Given the description of an element on the screen output the (x, y) to click on. 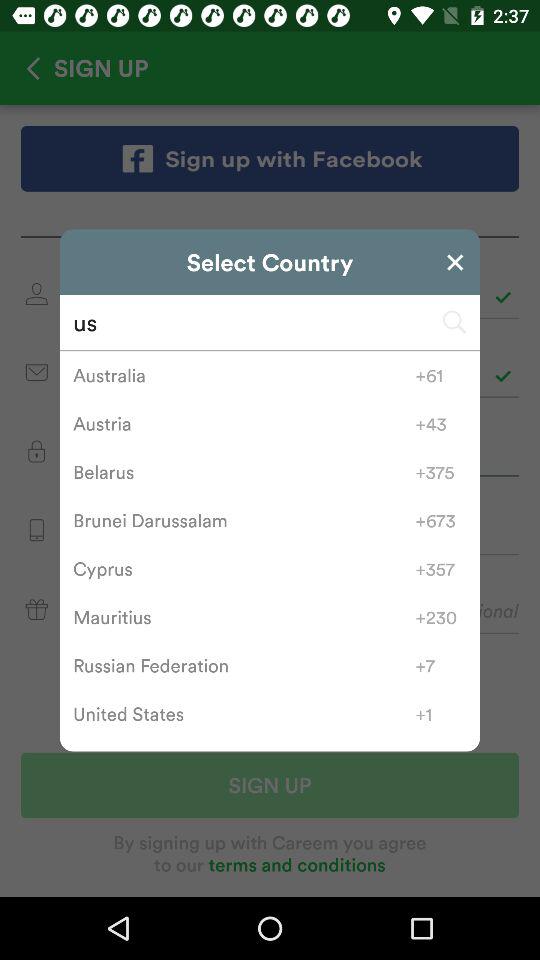
open the icon below belarus item (244, 520)
